Given the description of an element on the screen output the (x, y) to click on. 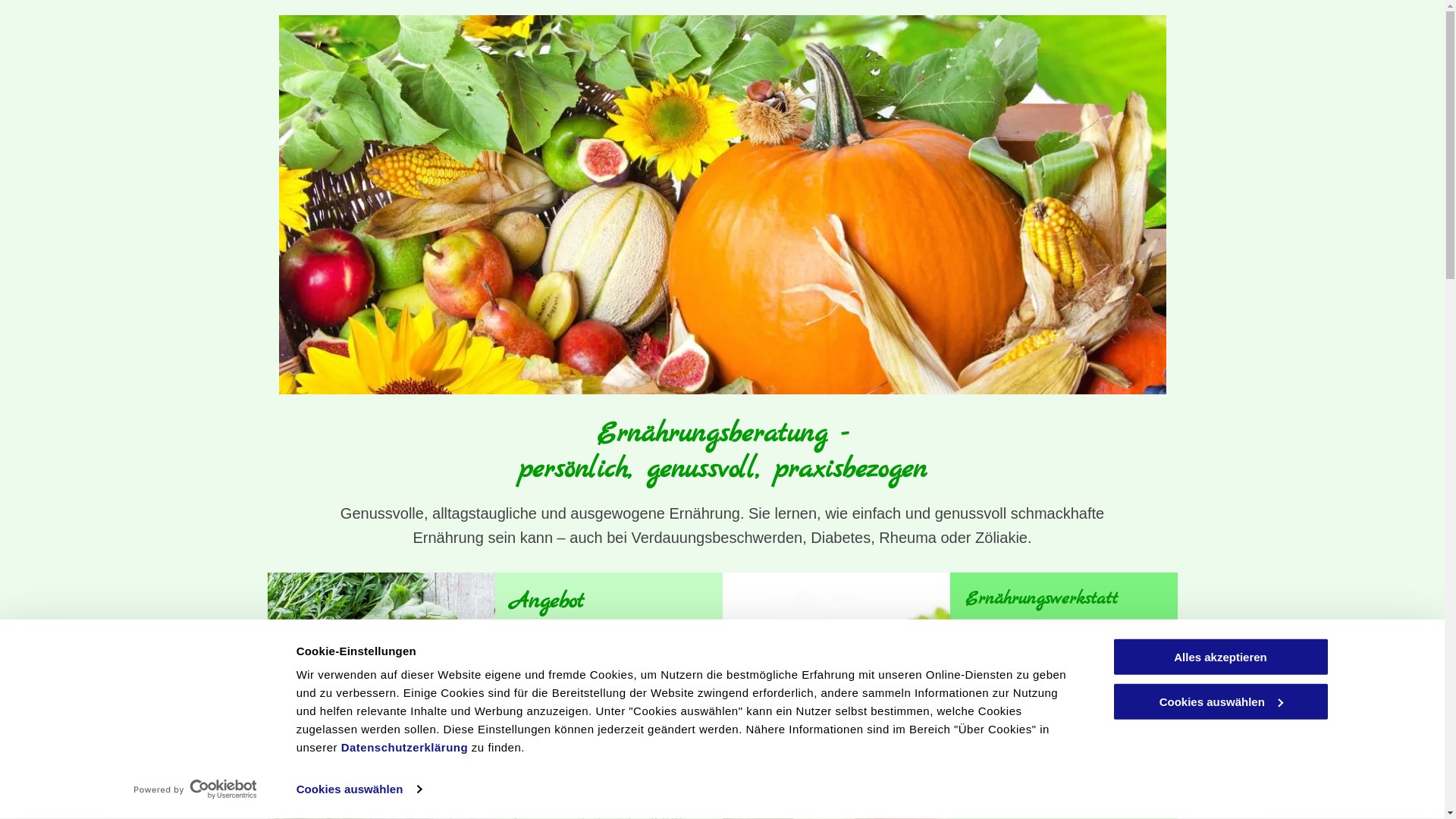
Alles akzeptieren Element type: text (1219, 656)
